Given the description of an element on the screen output the (x, y) to click on. 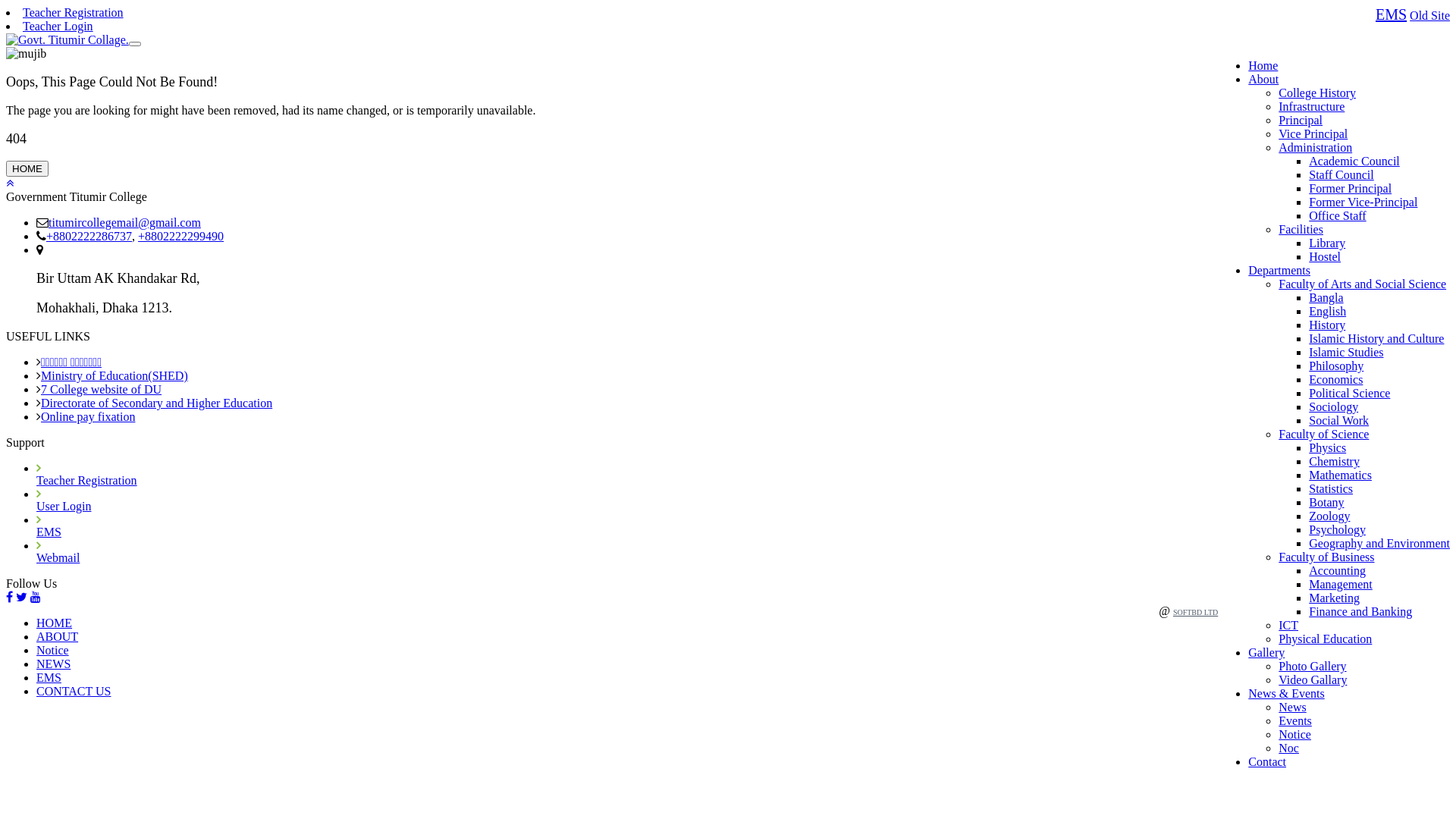
College History Element type: text (1316, 92)
Video Gallary Element type: text (1312, 679)
ABOUT Element type: text (57, 636)
Marketing Element type: text (1333, 597)
Staff Council Element type: text (1340, 174)
SOFTBD LTD Element type: text (1195, 612)
News & Events Element type: text (1286, 693)
ICT Element type: text (1288, 624)
Teacher Login Element type: text (57, 25)
HOME Element type: text (27, 168)
Departments Element type: text (1279, 269)
Administration Element type: text (1315, 147)
titumircollegemail@gmail.com Element type: text (124, 222)
Photo Gallery Element type: text (1312, 665)
EMS Element type: text (48, 677)
Geography and Environment Element type: text (1378, 542)
Faculty of Business Element type: text (1326, 556)
Online pay fixation Element type: text (87, 416)
Gallery Element type: text (1266, 652)
Sociology Element type: text (1333, 406)
+8802222299490 Element type: text (180, 235)
Principal Element type: text (1300, 119)
CONTACT US Element type: text (73, 690)
Faculty of Arts and Social Science Element type: text (1362, 283)
Botany Element type: text (1325, 501)
HOME Element type: text (54, 622)
Physical Education Element type: text (1324, 638)
Webmail Element type: text (57, 557)
Notice Element type: text (1294, 734)
Infrastructure Element type: text (1311, 106)
EMS Element type: text (48, 531)
Social Work Element type: text (1338, 420)
Old Site Element type: text (1429, 15)
+8802222286737 Element type: text (88, 235)
Zoology Element type: text (1328, 515)
Accounting Element type: text (1336, 570)
Ministry of Education(SHED) Element type: text (114, 375)
EMS Element type: text (1390, 14)
Library Element type: text (1326, 242)
English Element type: text (1327, 310)
User Login Element type: text (63, 505)
Notice Element type: text (52, 649)
Statistics Element type: text (1330, 488)
Economics Element type: text (1335, 379)
Bangla Element type: text (1325, 297)
Vice Principal Element type: text (1312, 133)
About Element type: text (1263, 78)
Chemistry Element type: text (1333, 461)
Noc Element type: text (1288, 747)
NEWS Element type: text (53, 663)
Office Staff Element type: text (1336, 215)
Physics Element type: text (1327, 447)
Former Principal Element type: text (1349, 188)
7 College website of DU Element type: text (100, 388)
Teacher Registration Element type: text (72, 12)
Faculty of Science Element type: text (1323, 433)
Events Element type: text (1294, 720)
Mathematics Element type: text (1339, 474)
Directorate of Secondary and Higher Education Element type: text (156, 402)
Contact Element type: text (1267, 761)
Islamic Studies Element type: text (1345, 351)
Facilities Element type: text (1300, 228)
Academic Council Element type: text (1353, 160)
Finance and Banking Element type: text (1360, 611)
Philosophy Element type: text (1335, 365)
News Element type: text (1291, 706)
Psychology Element type: text (1336, 529)
Teacher Registration Element type: text (86, 479)
Management Element type: text (1340, 583)
Home Element type: text (1262, 65)
Former Vice-Principal Element type: text (1362, 201)
History Element type: text (1326, 324)
Hostel Element type: text (1324, 256)
Political Science Element type: text (1349, 392)
Islamic History and Culture Element type: text (1375, 338)
